Given the description of an element on the screen output the (x, y) to click on. 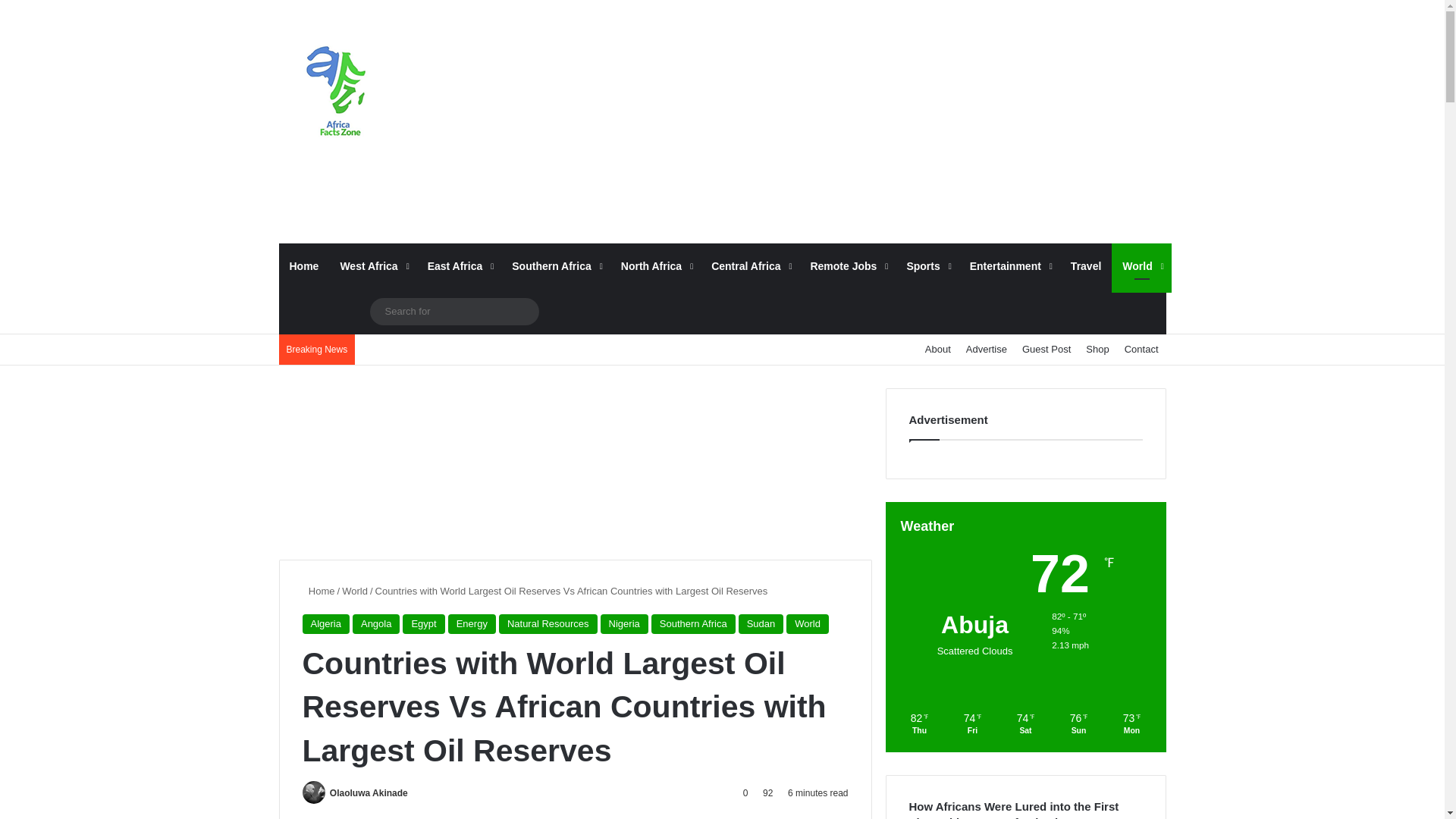
West Africa (372, 266)
East Africa (459, 266)
Search for (453, 311)
Olaoluwa Akinade (368, 792)
Home (304, 266)
Advertisement (874, 121)
Advertisement (575, 462)
AFRICA FACTS ZONE (336, 94)
